Given the description of an element on the screen output the (x, y) to click on. 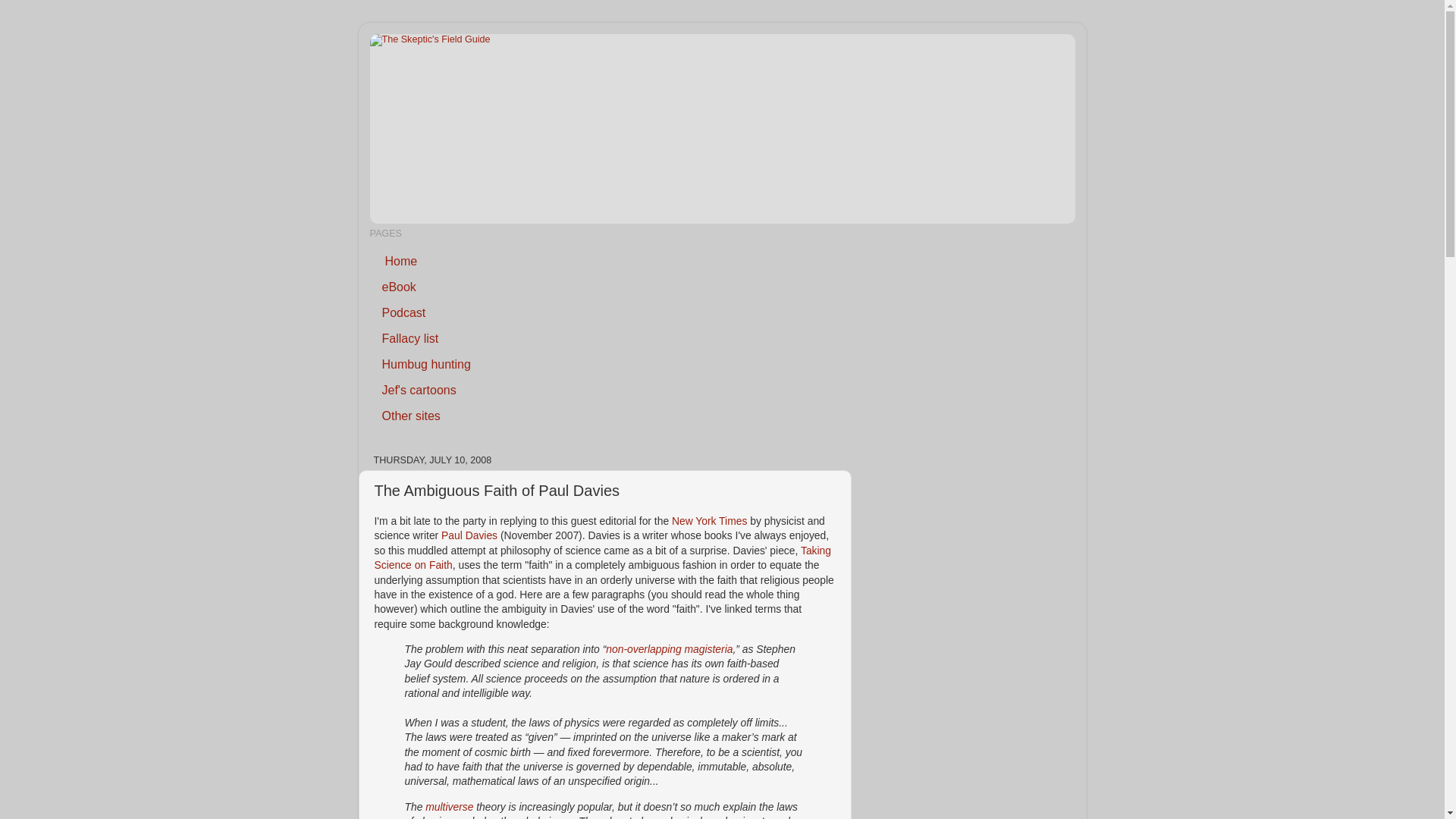
Paul Davies (469, 535)
multiverse (449, 806)
Fallacy list (410, 338)
eBook (399, 287)
Home (399, 261)
Podcast (404, 312)
non-overlapping magisteria (668, 648)
Other sites (410, 416)
Taking Science on Faith (602, 557)
Humbug hunting (426, 364)
